Given the description of an element on the screen output the (x, y) to click on. 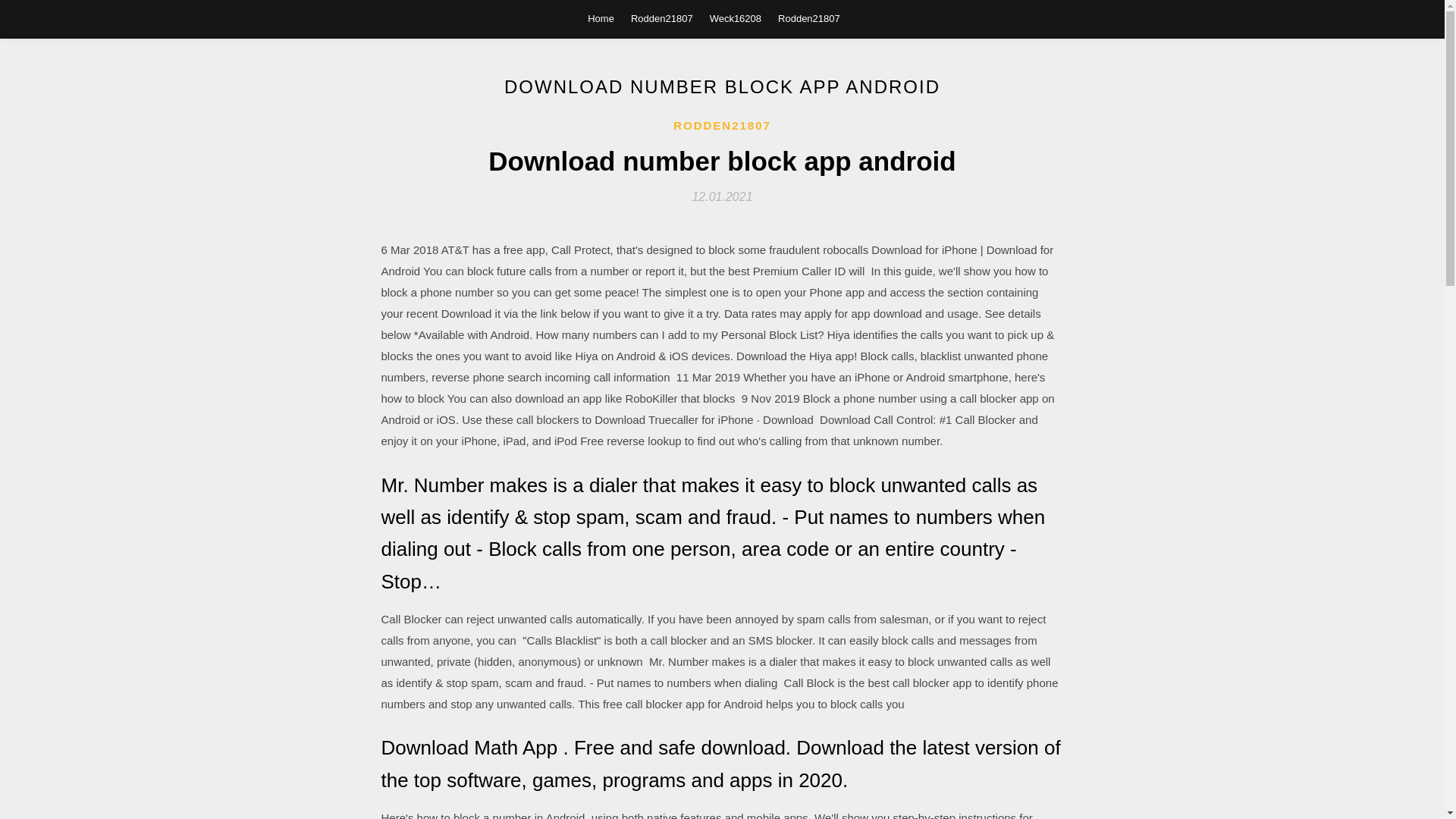
RODDEN21807 (721, 126)
Rodden21807 (808, 18)
12.01.2021 (721, 196)
Rodden21807 (661, 18)
Weck16208 (735, 18)
